Given the description of an element on the screen output the (x, y) to click on. 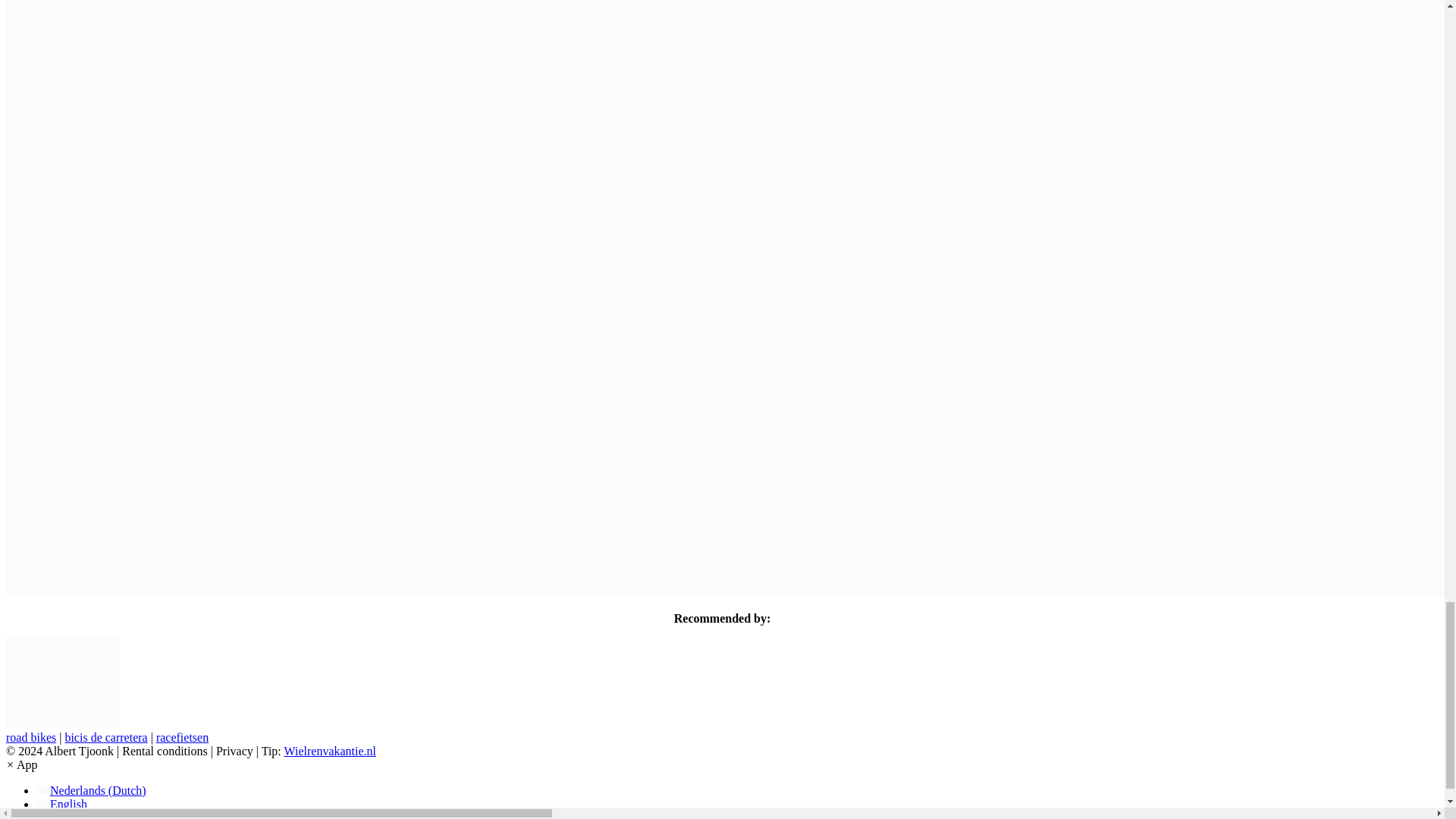
Wielrenvakantie.nl (330, 750)
Logo-Recomendado-en (62, 683)
road bikes (30, 737)
racefiets huren Spanje  (181, 737)
bicis de carretera (105, 737)
English (61, 803)
racefietsen (181, 737)
